Given the description of an element on the screen output the (x, y) to click on. 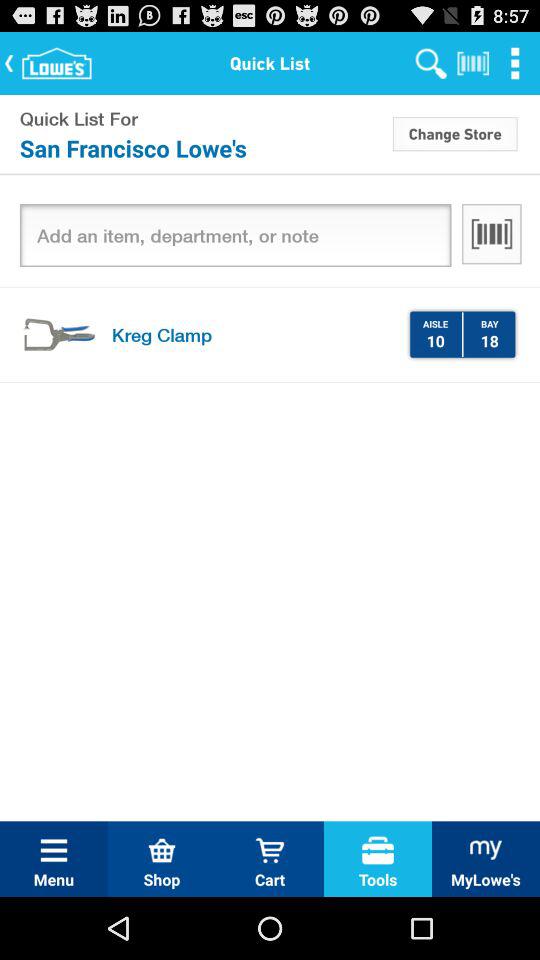
open icon below quick list for (204, 147)
